Given the description of an element on the screen output the (x, y) to click on. 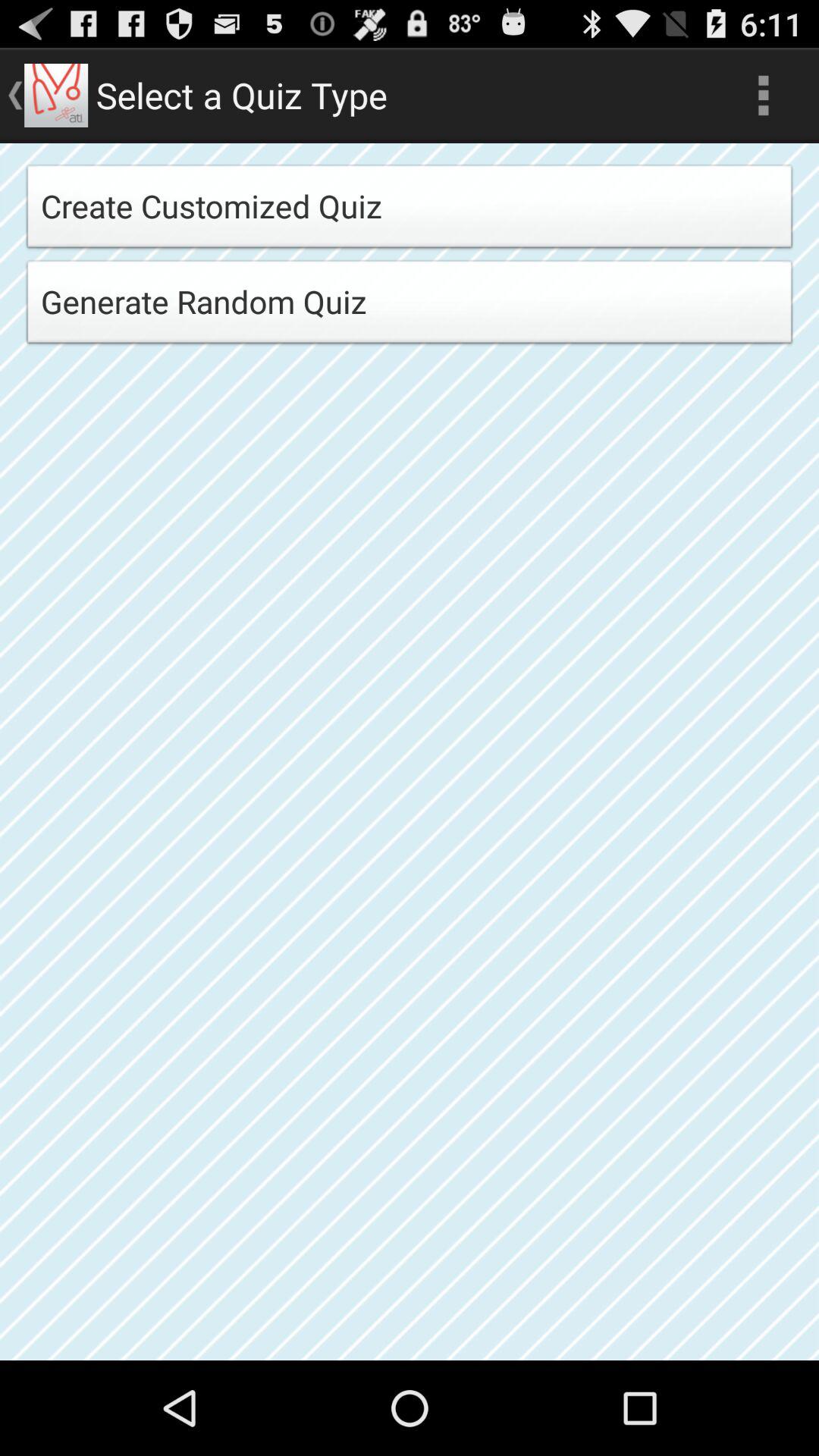
press the icon at the top right corner (763, 95)
